Given the description of an element on the screen output the (x, y) to click on. 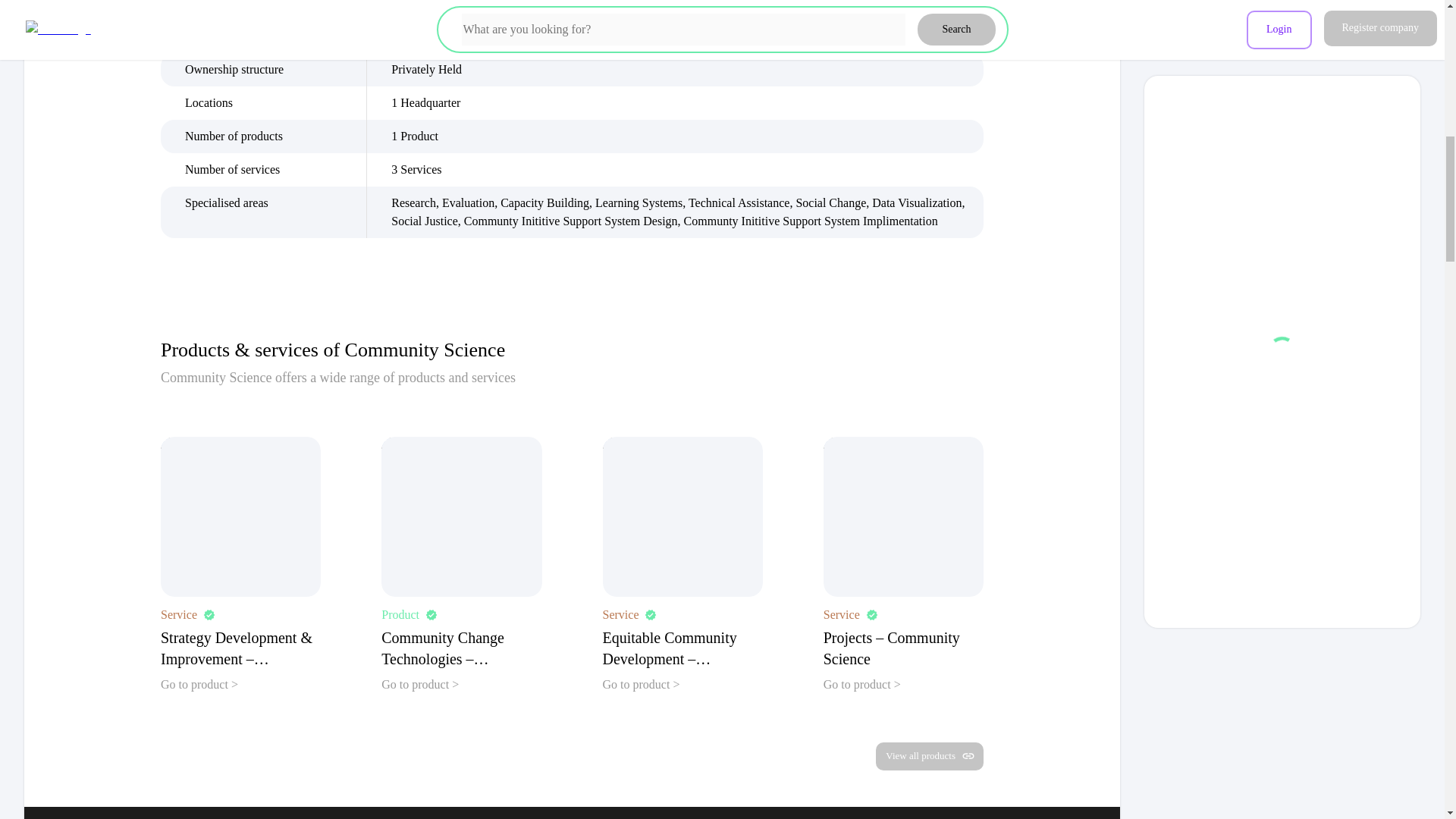
View all products (930, 756)
